Given the description of an element on the screen output the (x, y) to click on. 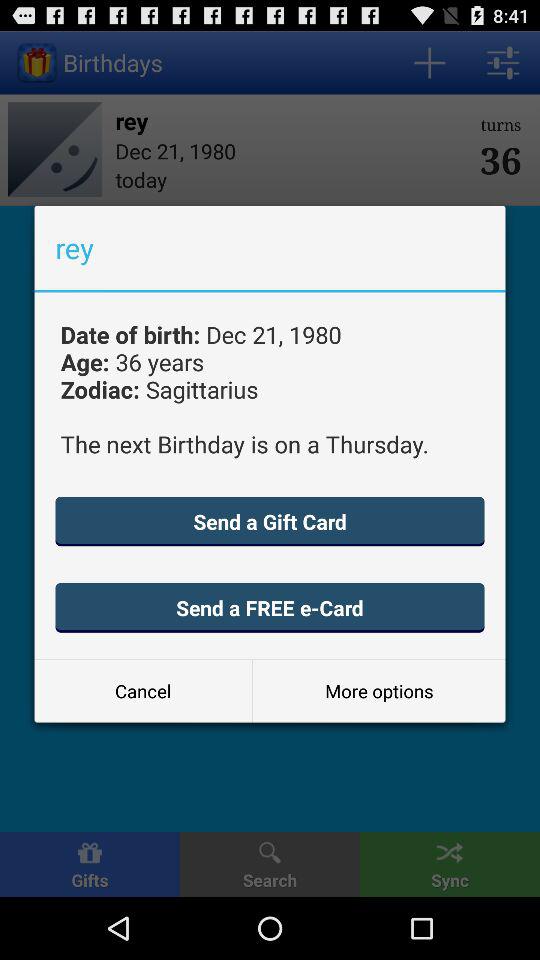
turn off the icon at the bottom left corner (143, 690)
